Given the description of an element on the screen output the (x, y) to click on. 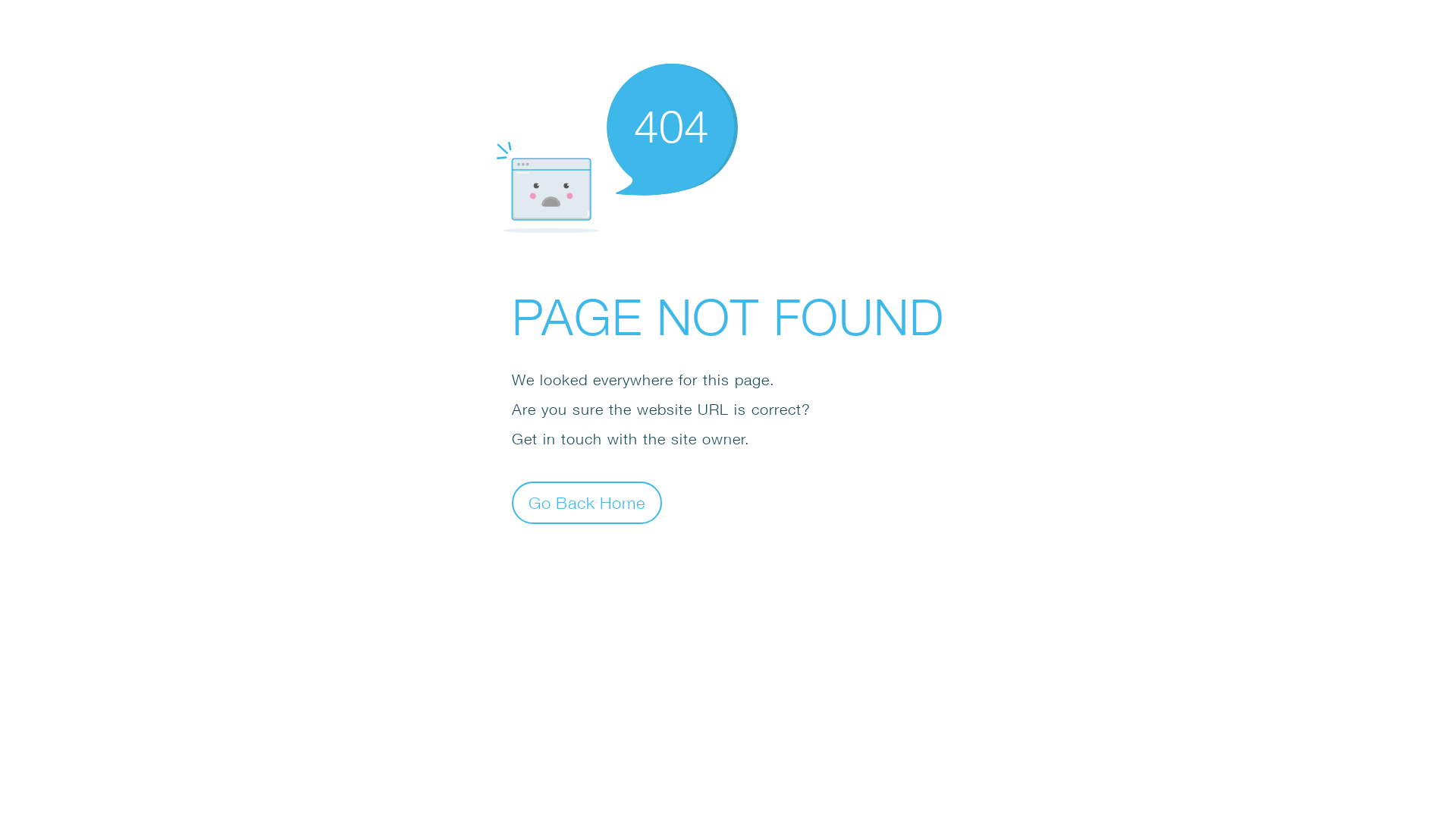
Go Back Home Element type: text (586, 502)
